Given the description of an element on the screen output the (x, y) to click on. 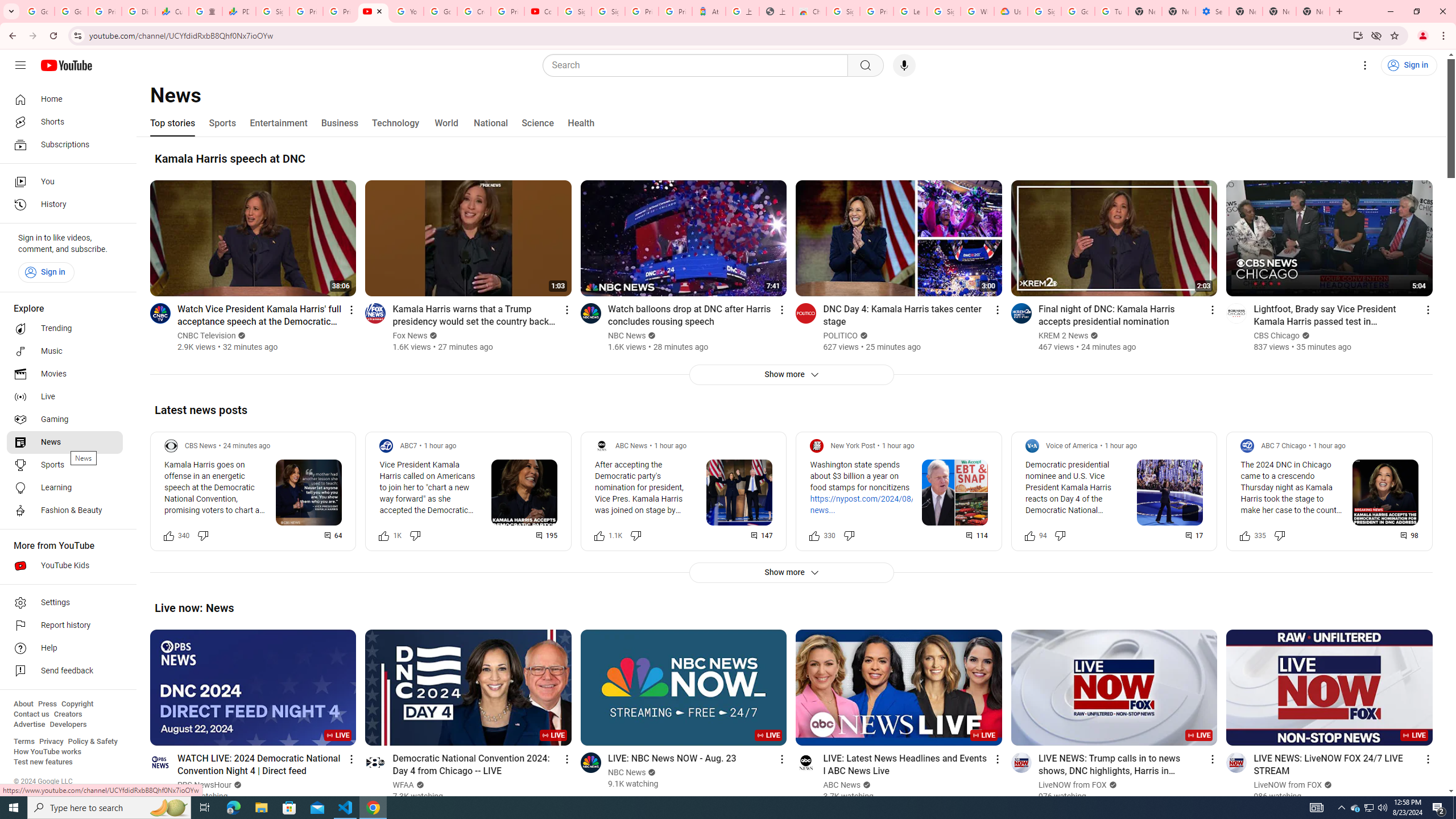
Sign in - Google Accounts (1043, 11)
Press (46, 703)
https://nypost.com/2024/08/21/us-news... (873, 504)
Privacy Checkup (339, 11)
Google Account Help (1077, 11)
Settings - Addresses and more (1212, 11)
LiveNOW from FOX (1288, 784)
Verified (1327, 784)
YouTube (372, 11)
History (64, 204)
Currencies - Google Finance (171, 11)
Google Workspace Admin Community (37, 11)
24 minutes ago (246, 445)
Science (537, 122)
